Given the description of an element on the screen output the (x, y) to click on. 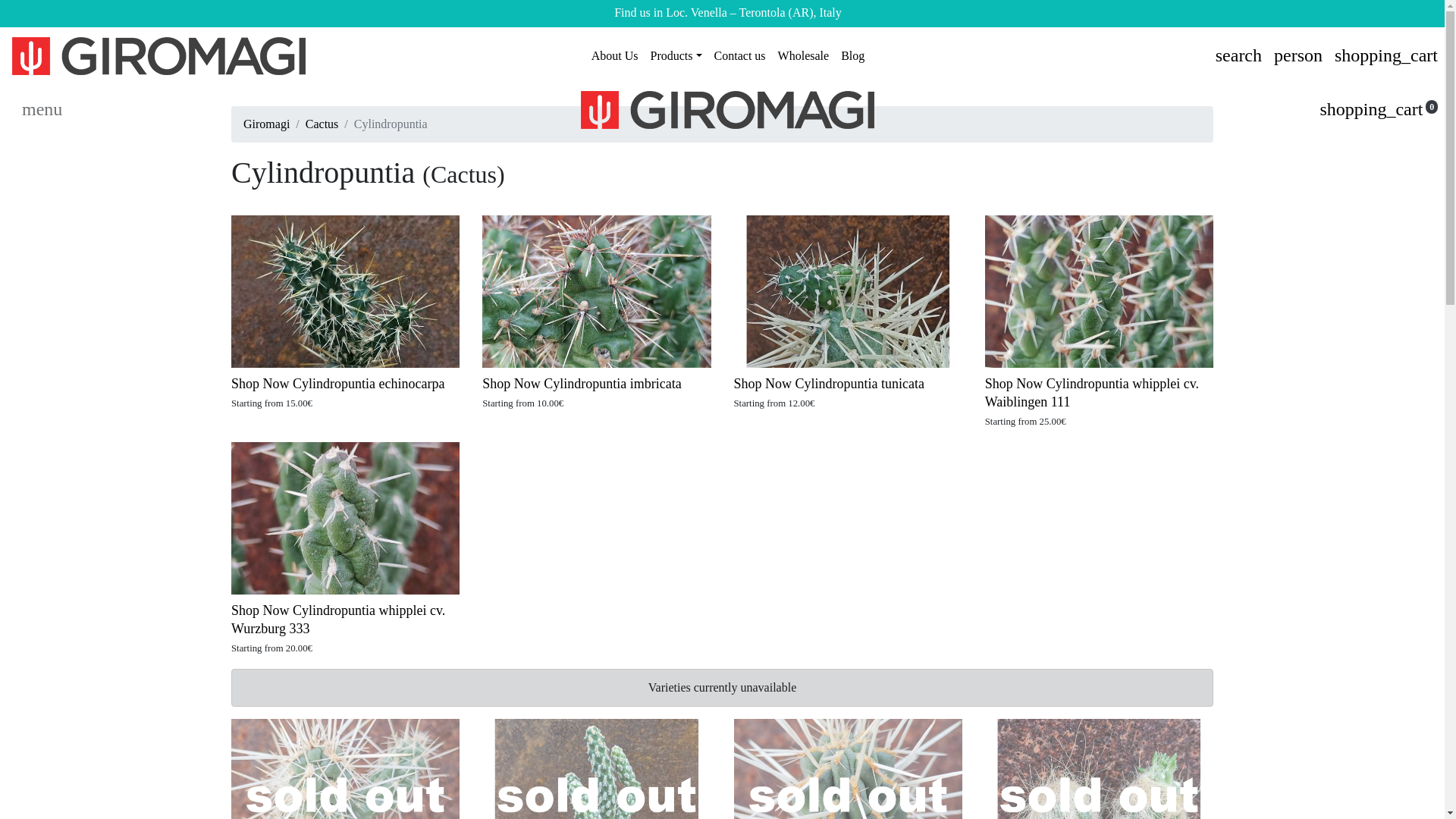
person (1297, 55)
Shop Now Cylindropuntia whipplei cv. Waiblingen 111 (1091, 392)
Contact us (739, 55)
Shop Now Cylindropuntia tunicata (828, 383)
Cactus (322, 124)
Products (676, 55)
Shop Now Cylindropuntia imbricata (581, 383)
About Us (615, 55)
menu (41, 109)
Shop Now Cylindropuntia echinocarpa (337, 383)
